Given the description of an element on the screen output the (x, y) to click on. 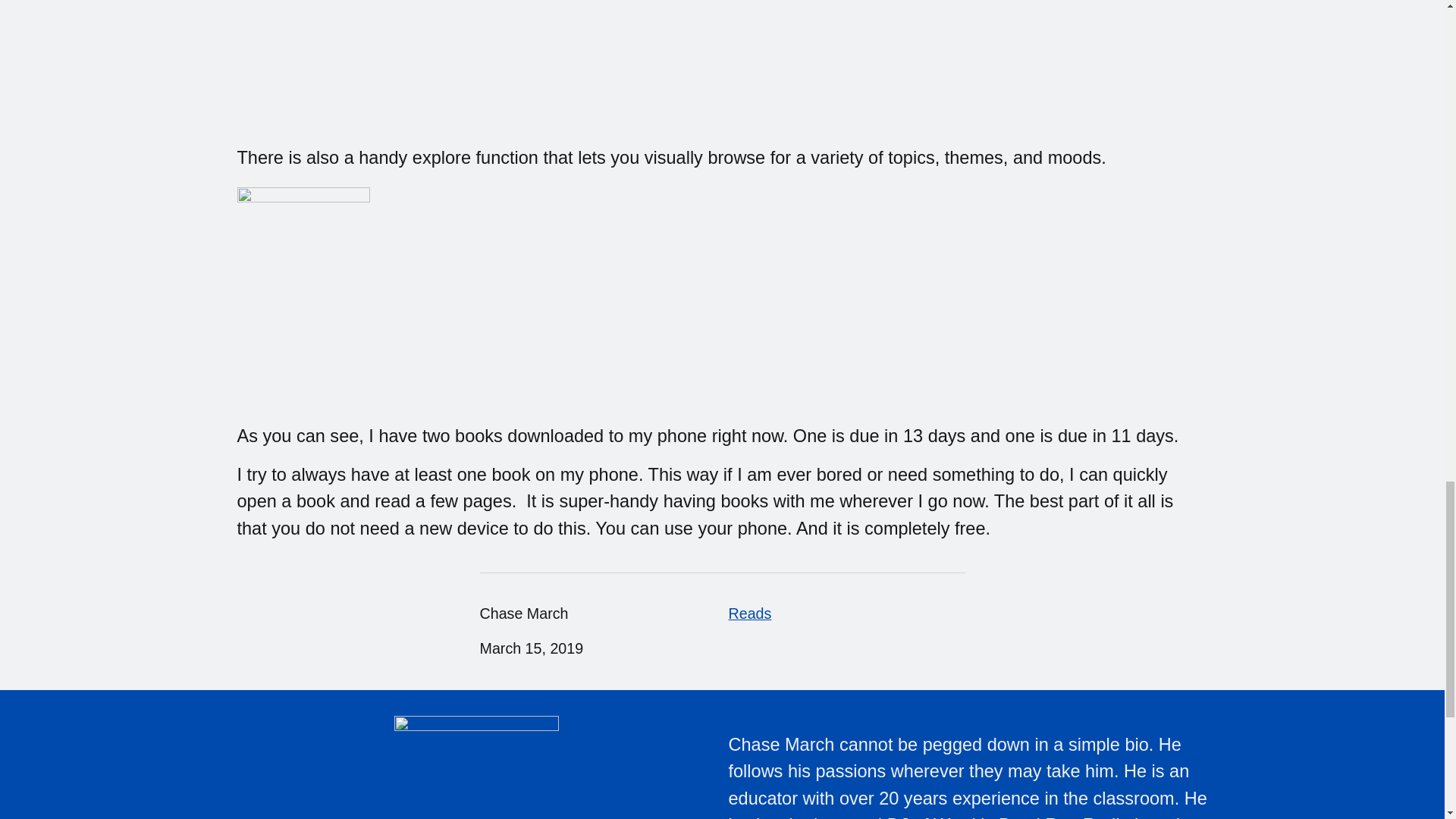
Reads (749, 613)
